Given the description of an element on the screen output the (x, y) to click on. 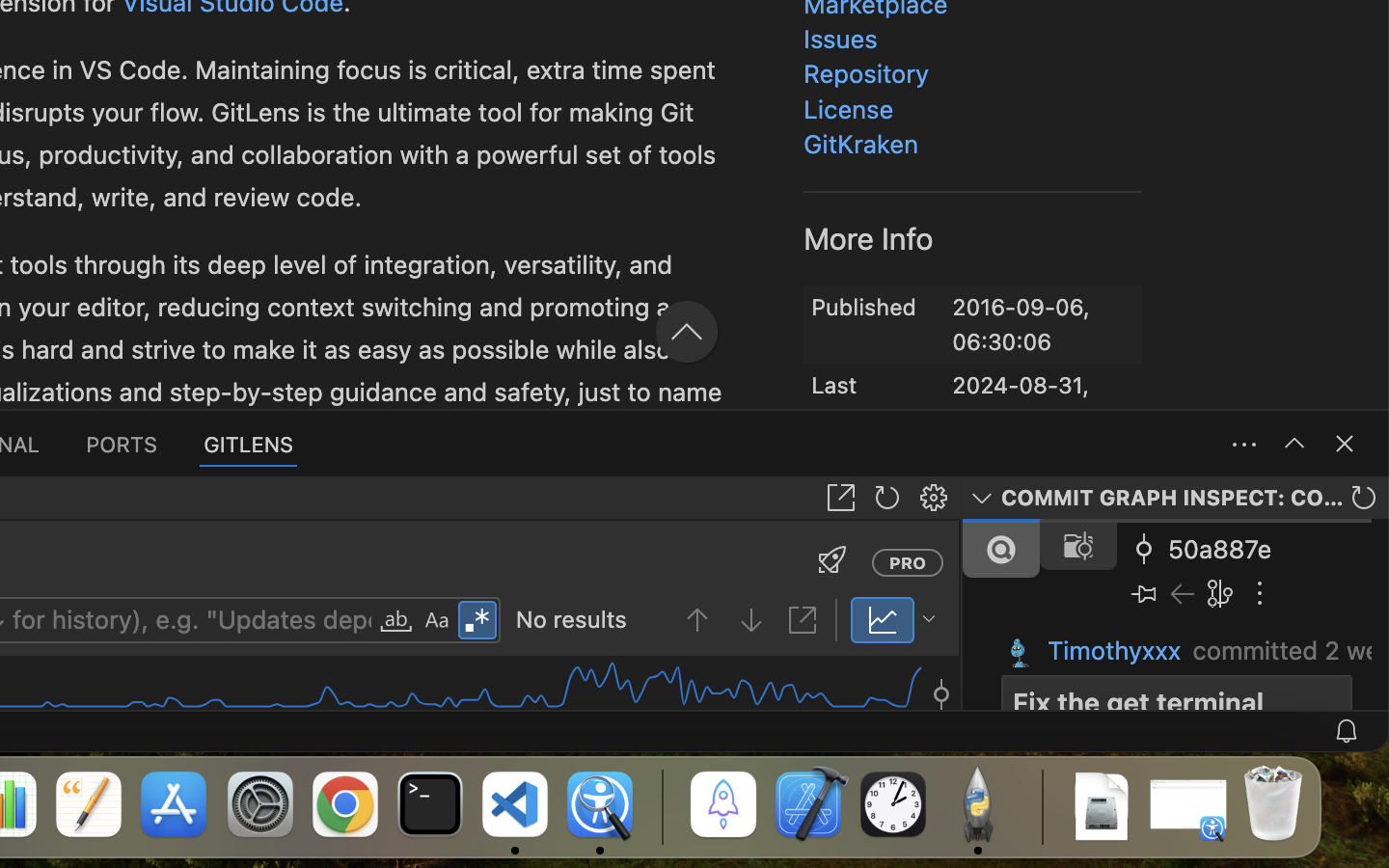
 Element type: AXStaticText (411, 223)
Fix the get terminal output error caused by namespace parameter changes Timothyxxx committed 50a887e 2 weeks ago        Element type: AXGroup (1175, 613)
Source Control Element type: AXStaticText (1187, 162)
 Element type: AXStaticText (933, 497)
0 PORTS Element type: AXRadioButton (122, 443)
